Given the description of an element on the screen output the (x, y) to click on. 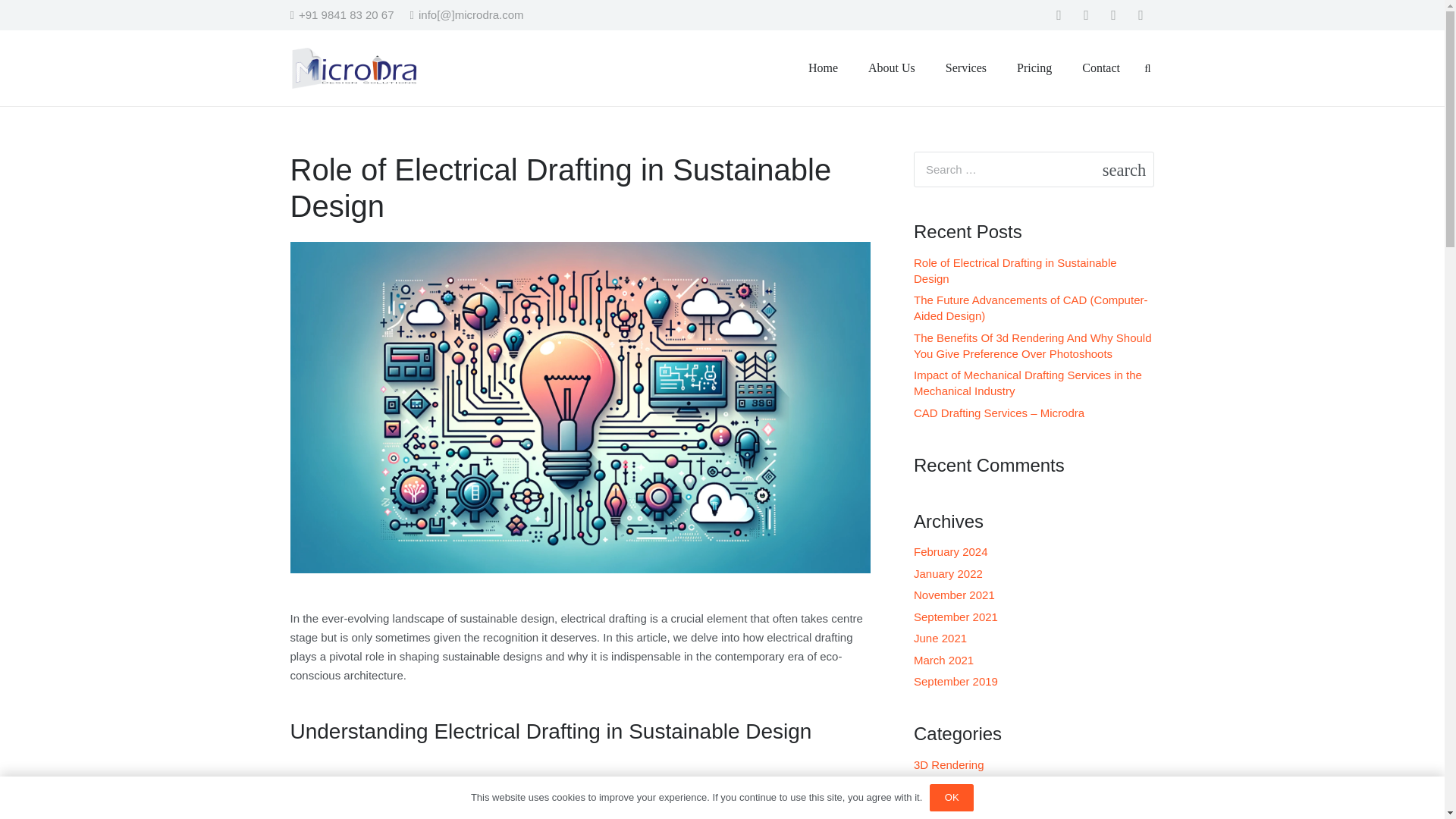
September 2021 (955, 616)
March 2021 (944, 659)
Facebook (1058, 14)
January 2022 (948, 573)
Pricing (1034, 67)
Home (823, 67)
Search (1135, 169)
LinkedIn (1112, 14)
June 2021 (940, 637)
Vkontakte (1140, 14)
November 2021 (954, 594)
Contact (1101, 67)
Twitter (1085, 14)
